Given the description of an element on the screen output the (x, y) to click on. 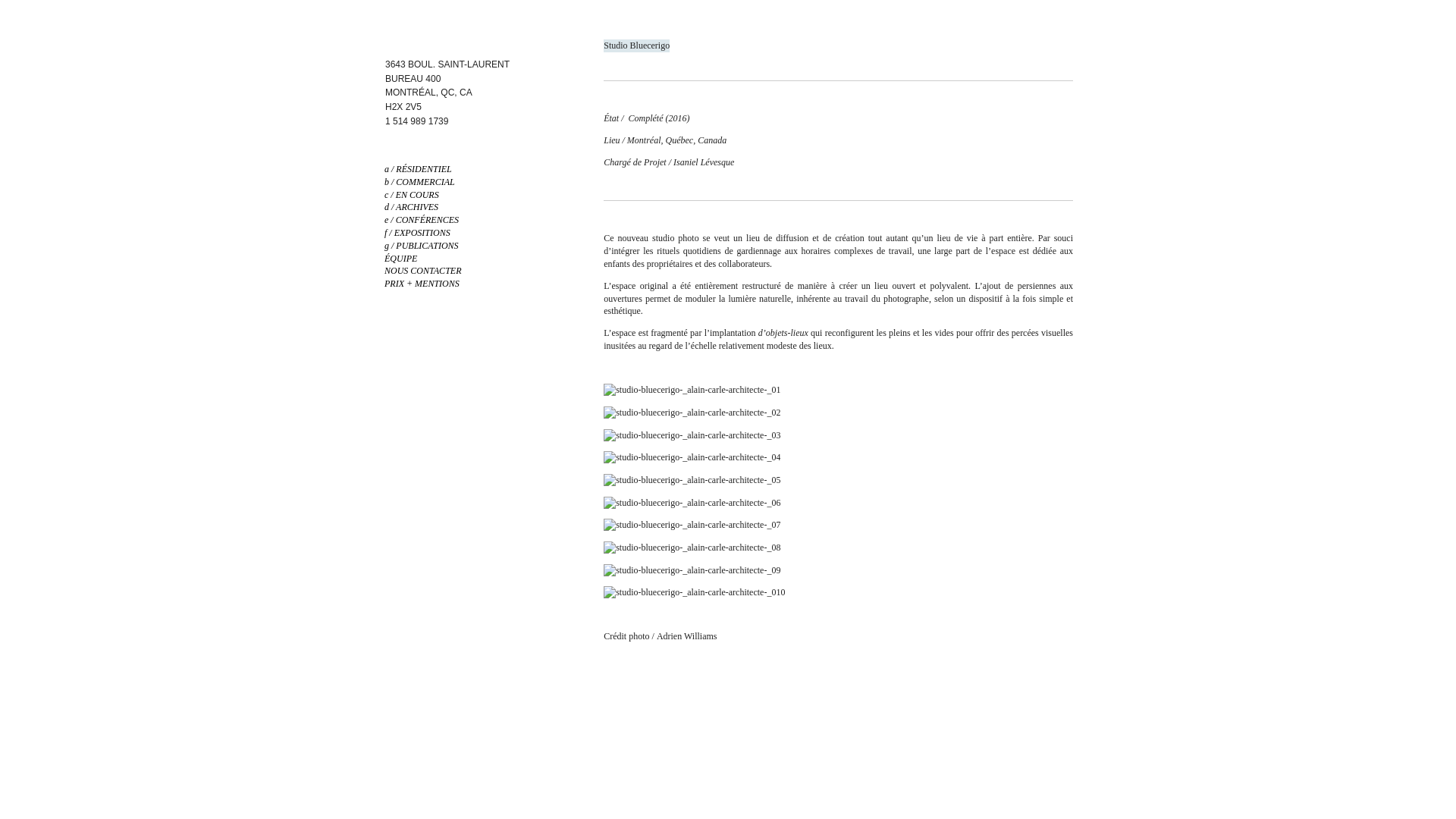
Studio Bluecerigo Element type: text (636, 45)
NOUS CONTACTER Element type: text (422, 270)
f / EXPOSITIONS Element type: text (416, 232)
c / EN COURS Element type: text (411, 194)
g / PUBLICATIONS Element type: text (421, 245)
PRIX + MENTIONS Element type: text (421, 283)
Adrien Williams Element type: text (686, 635)
b / COMMERCIAL Element type: text (419, 181)
d / ARCHIVES Element type: text (410, 206)
